Given the description of an element on the screen output the (x, y) to click on. 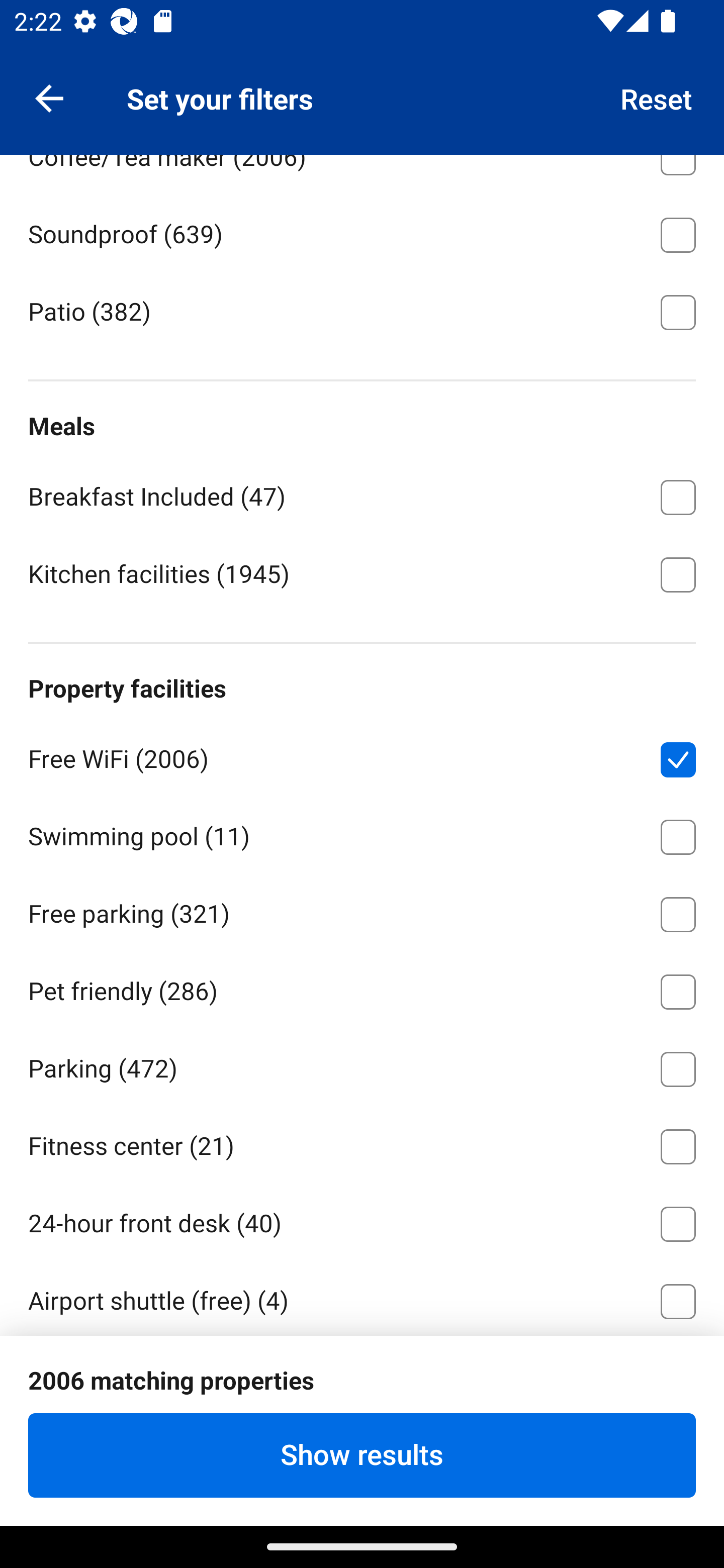
Electric kettle ⁦(1784) (361, 76)
Navigate up (49, 97)
Reset (656, 97)
Coffee/Tea maker ⁦(2006) (361, 173)
Soundproof ⁦(639) (361, 230)
Patio ⁦(382) (361, 310)
Breakfast Included ⁦(47) (361, 493)
Kitchen facilities ⁦(1945) (361, 573)
Free WiFi ⁦(2006) (361, 756)
Swimming pool ⁦(11) (361, 832)
Free parking ⁦(321) (361, 910)
Pet friendly ⁦(286) (361, 988)
Parking ⁦(472) (361, 1065)
Fitness center ⁦(21) (361, 1142)
24-hour front desk ⁦(40) (361, 1220)
Airport shuttle (free) ⁦(4) (361, 1297)
Spa ⁦(13) (361, 1375)
Non-smoking rooms ⁦(1483) (361, 1452)
